Given the description of an element on the screen output the (x, y) to click on. 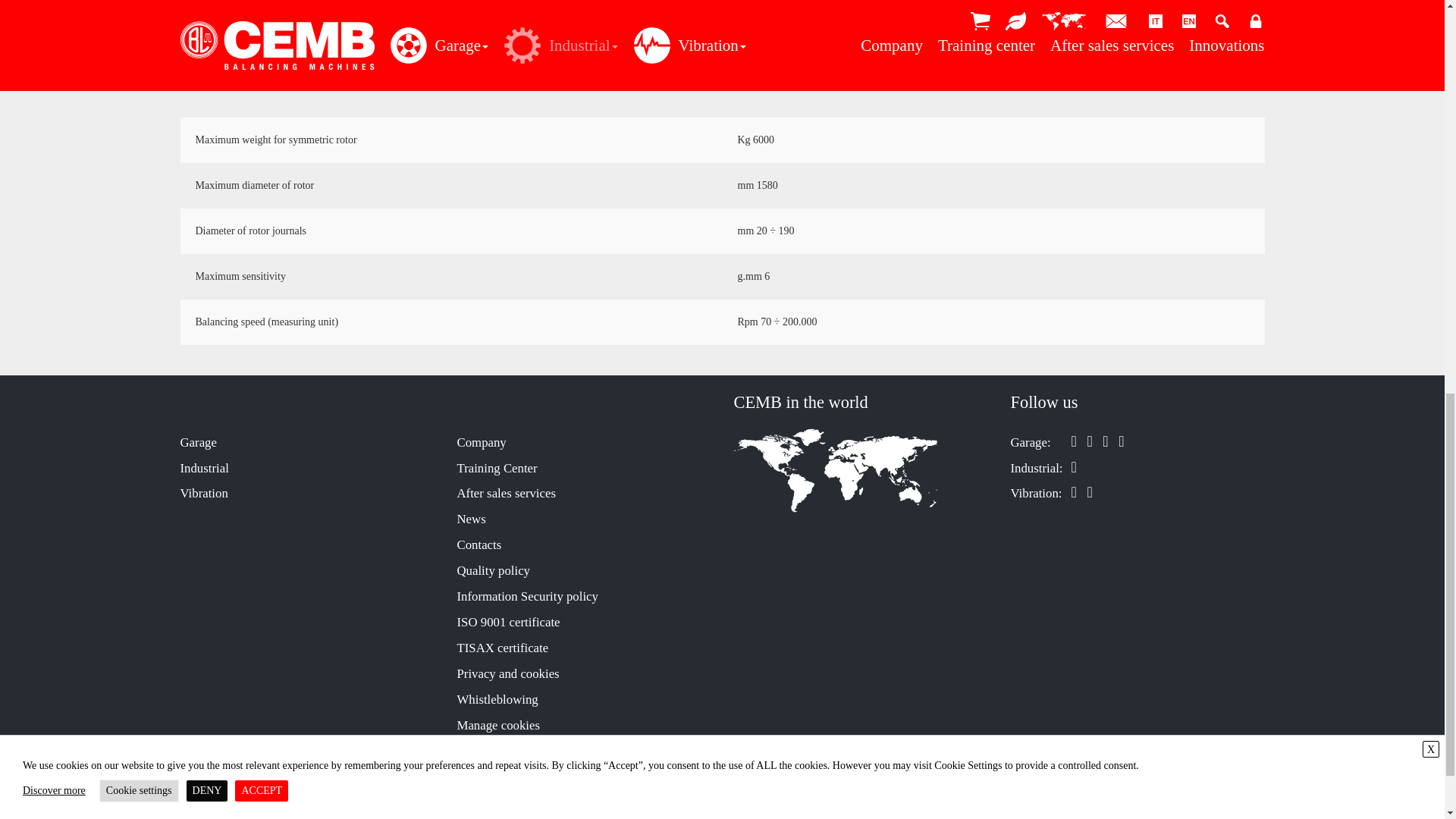
Downloads (857, 49)
Technical data (315, 49)
More info (1128, 49)
Size (586, 49)
